Given the description of an element on the screen output the (x, y) to click on. 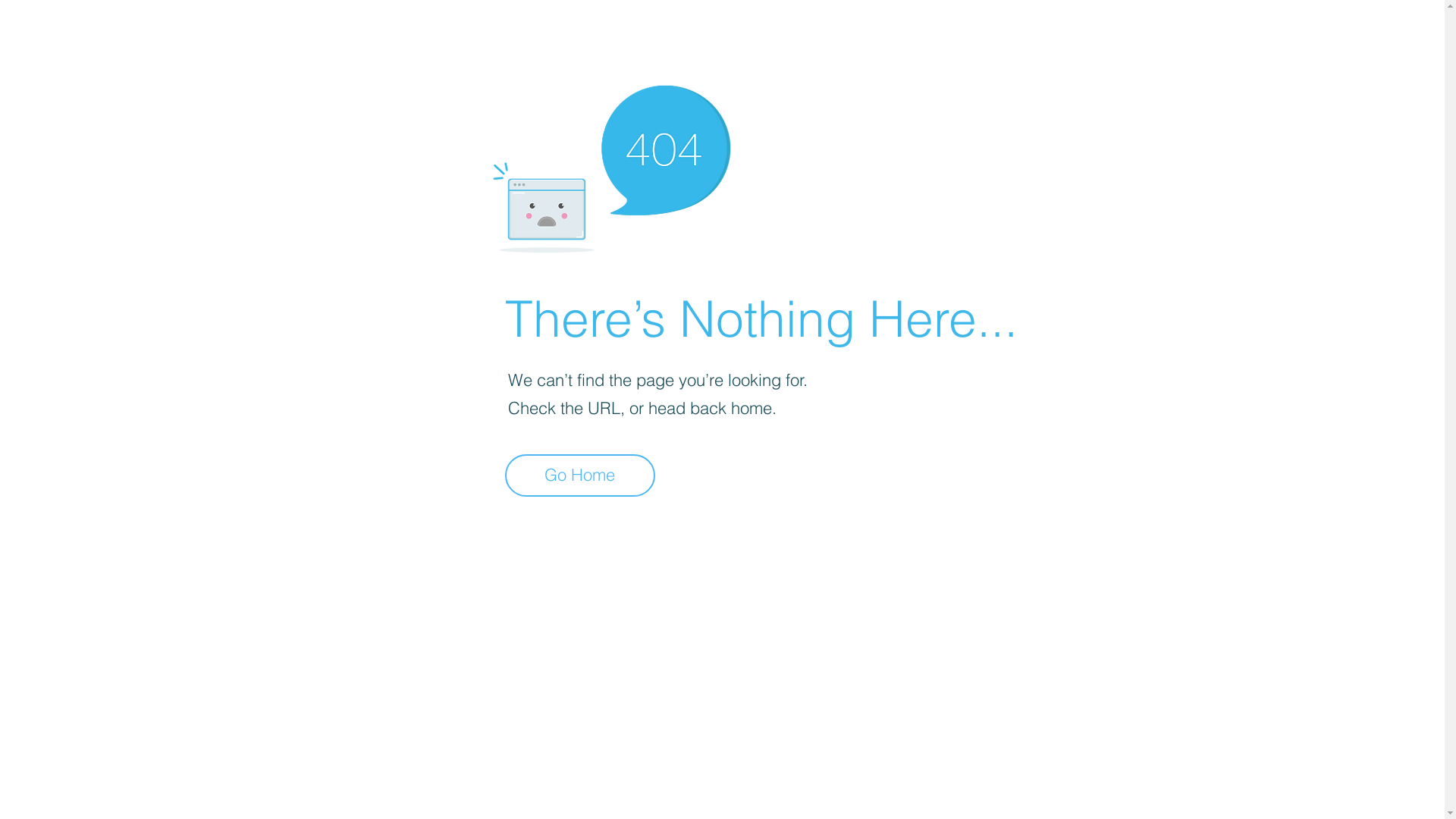
404-icon_2.png Element type: hover (610, 164)
Go Home Element type: text (580, 475)
